Given the description of an element on the screen output the (x, y) to click on. 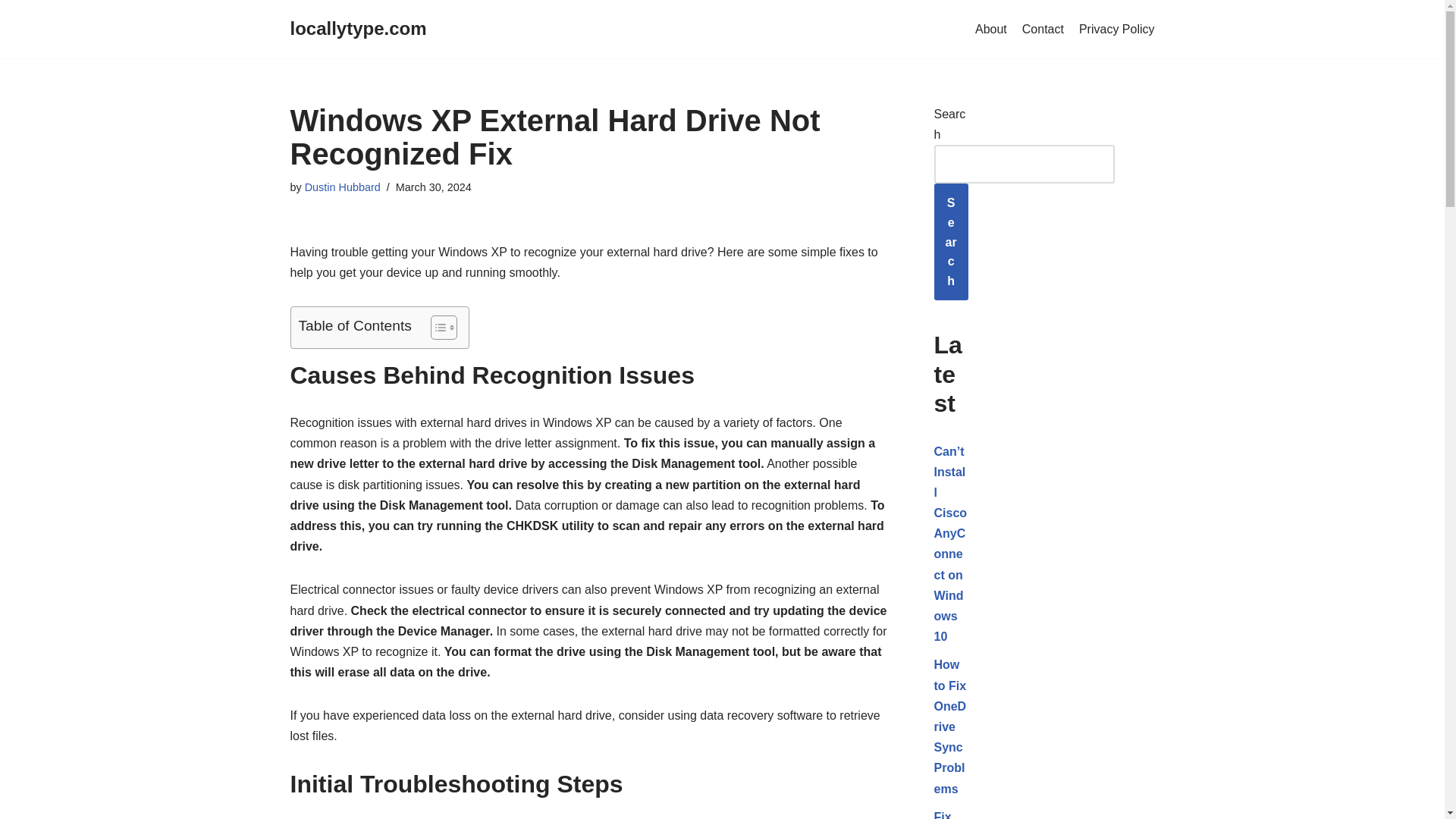
About (991, 29)
How to Fix OneDrive Sync Problems (950, 726)
locallytype.com (357, 29)
Contact (1043, 29)
Dustin Hubbard (342, 186)
Privacy Policy (1116, 29)
Posts by Dustin Hubbard (342, 186)
Skip to content (11, 31)
Search (951, 241)
